Given the description of an element on the screen output the (x, y) to click on. 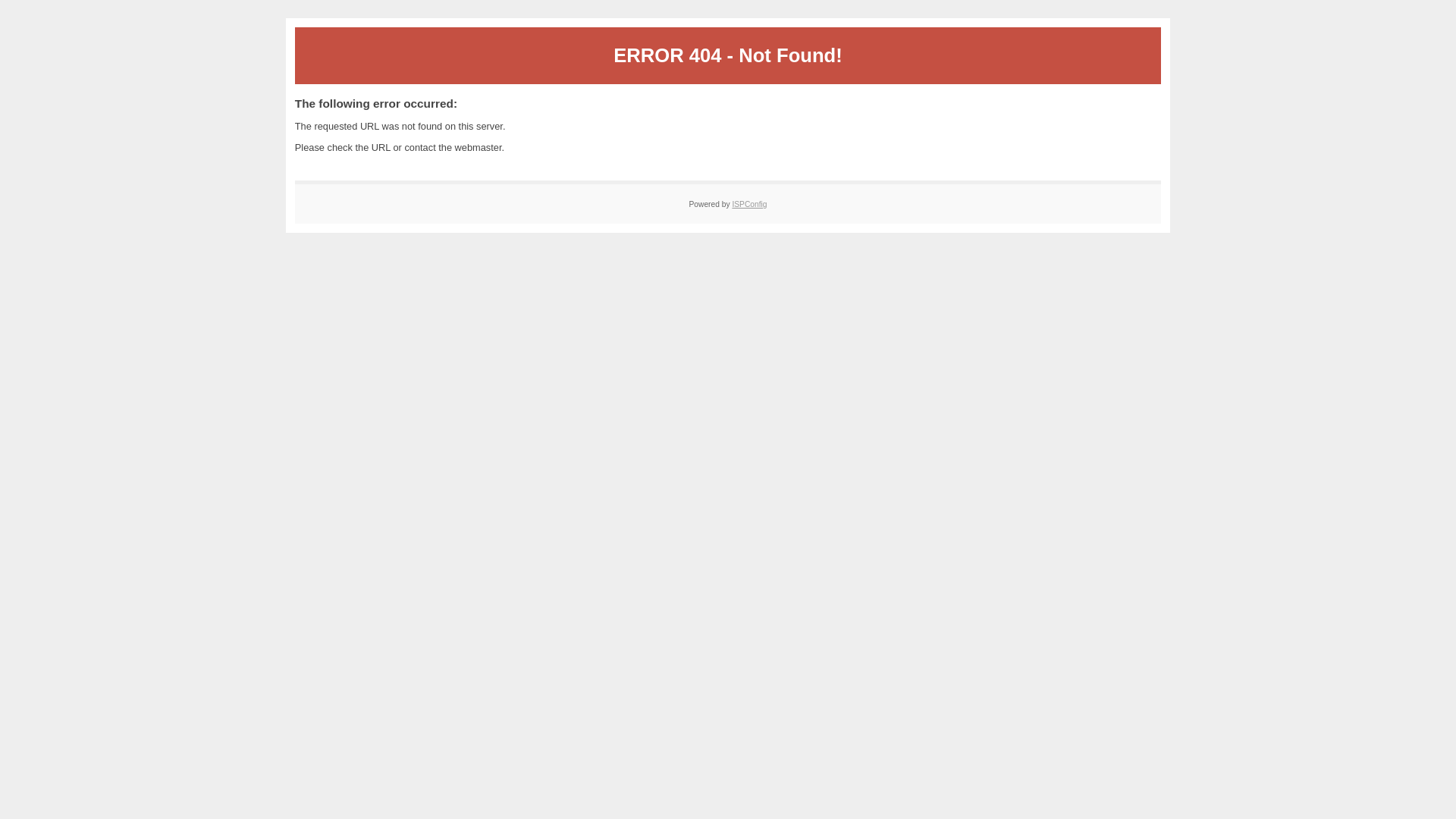
ISPConfig Element type: text (748, 204)
